Given the description of an element on the screen output the (x, y) to click on. 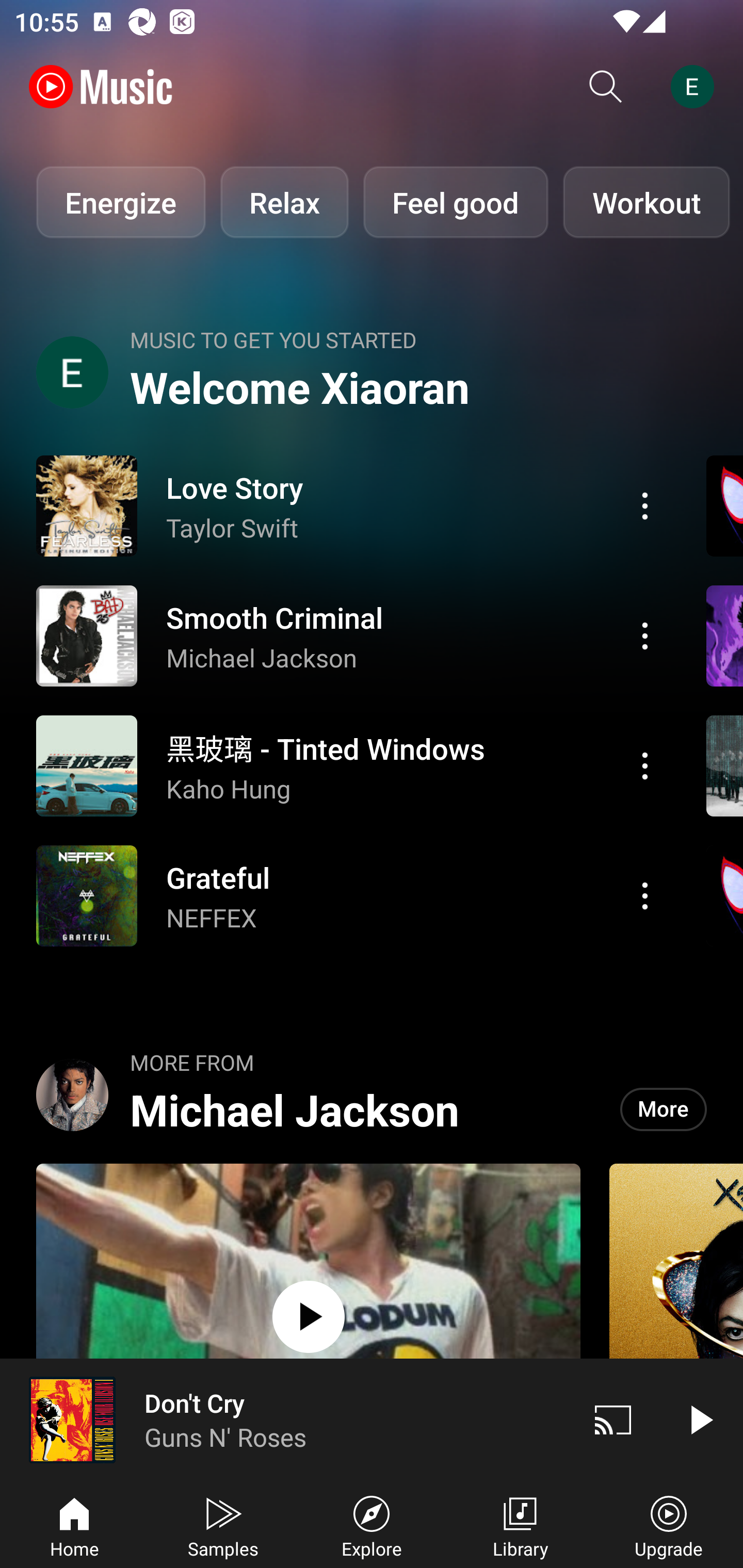
Search (605, 86)
Account (696, 86)
Action menu (349, 505)
Action menu (644, 505)
Action menu (349, 635)
Action menu (644, 635)
Action menu (349, 765)
Action menu (644, 765)
Action menu (349, 896)
Action menu (644, 896)
Don't Cry Guns N' Roses (284, 1419)
Cast. Disconnected (612, 1419)
Play video (699, 1419)
Home (74, 1524)
Samples (222, 1524)
Explore (371, 1524)
Library (519, 1524)
Upgrade (668, 1524)
